Given the description of an element on the screen output the (x, y) to click on. 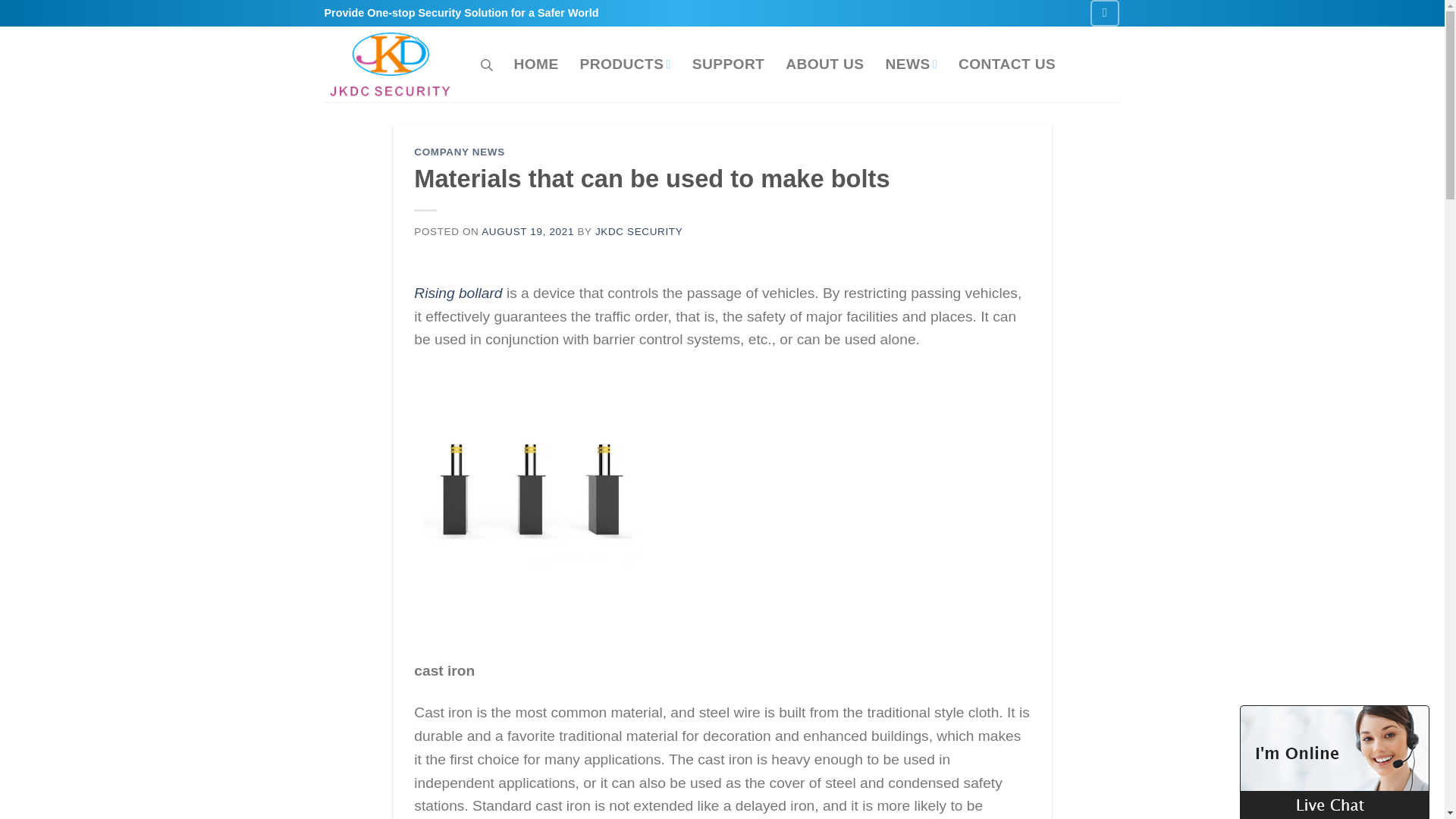
SUPPORT (728, 64)
X-ray Machine (391, 64)
AUGUST 19, 2021 (527, 231)
Send us an email (1104, 13)
NEWS (911, 64)
HOME (536, 64)
COMPANY NEWS (459, 152)
Rising bollard (457, 293)
JKDC SECURITY (638, 231)
CONTACT US (1006, 64)
PRODUCTS (625, 64)
ABOUT US (824, 64)
